Given the description of an element on the screen output the (x, y) to click on. 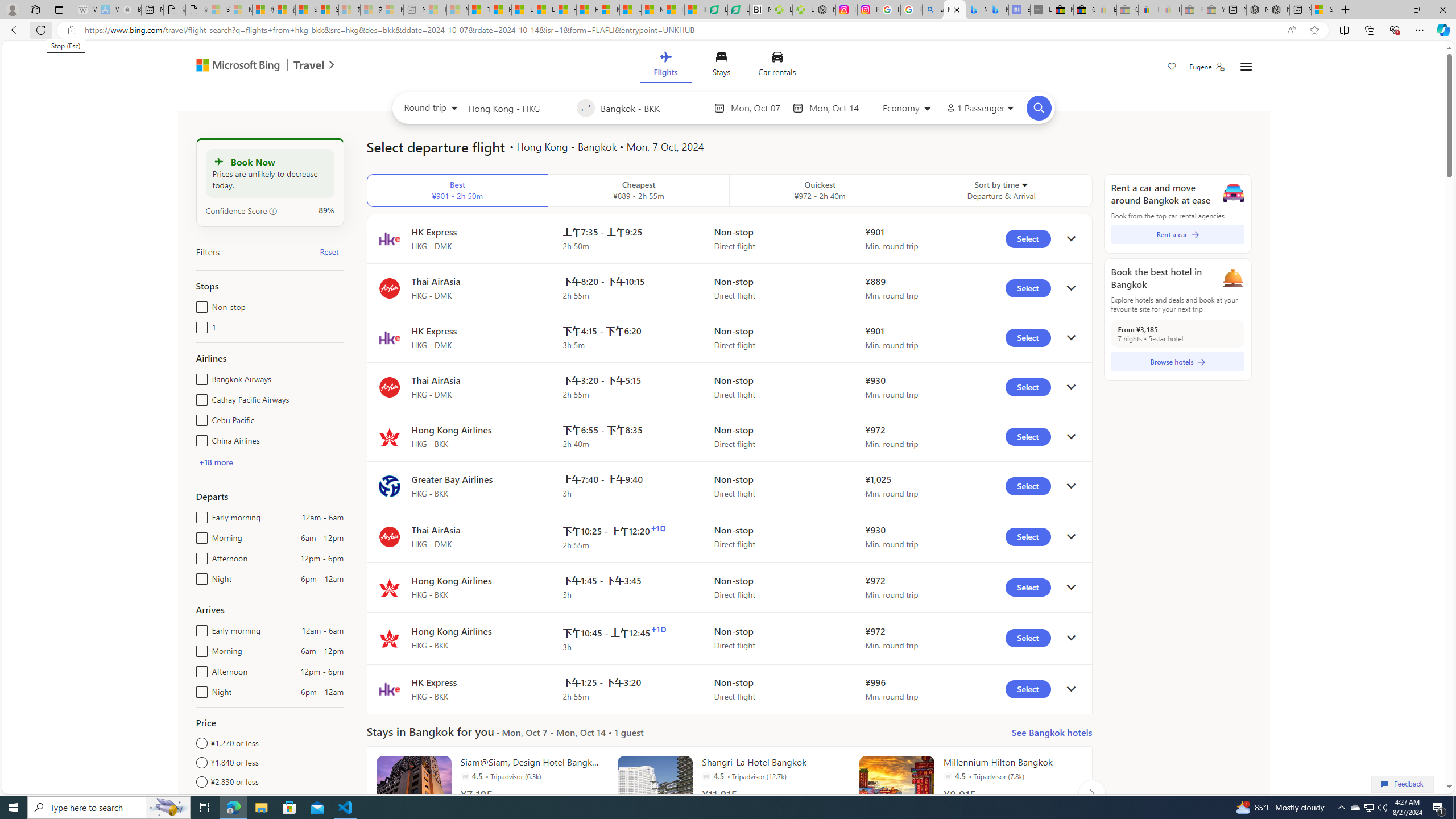
Foo BAR | Trusted Community Engagement and Contributions (587, 9)
Sort by time Sorter Departure & Arrival (1001, 190)
Microsoft Start (652, 9)
Nordace - Summer Adventures 2024 (1278, 9)
Microsoft Services Agreement - Sleeping (241, 9)
Descarga Driver Updater (802, 9)
Rent a car (1177, 234)
Class: autosuggest-container full-height no-y-padding (651, 107)
